Given the description of an element on the screen output the (x, y) to click on. 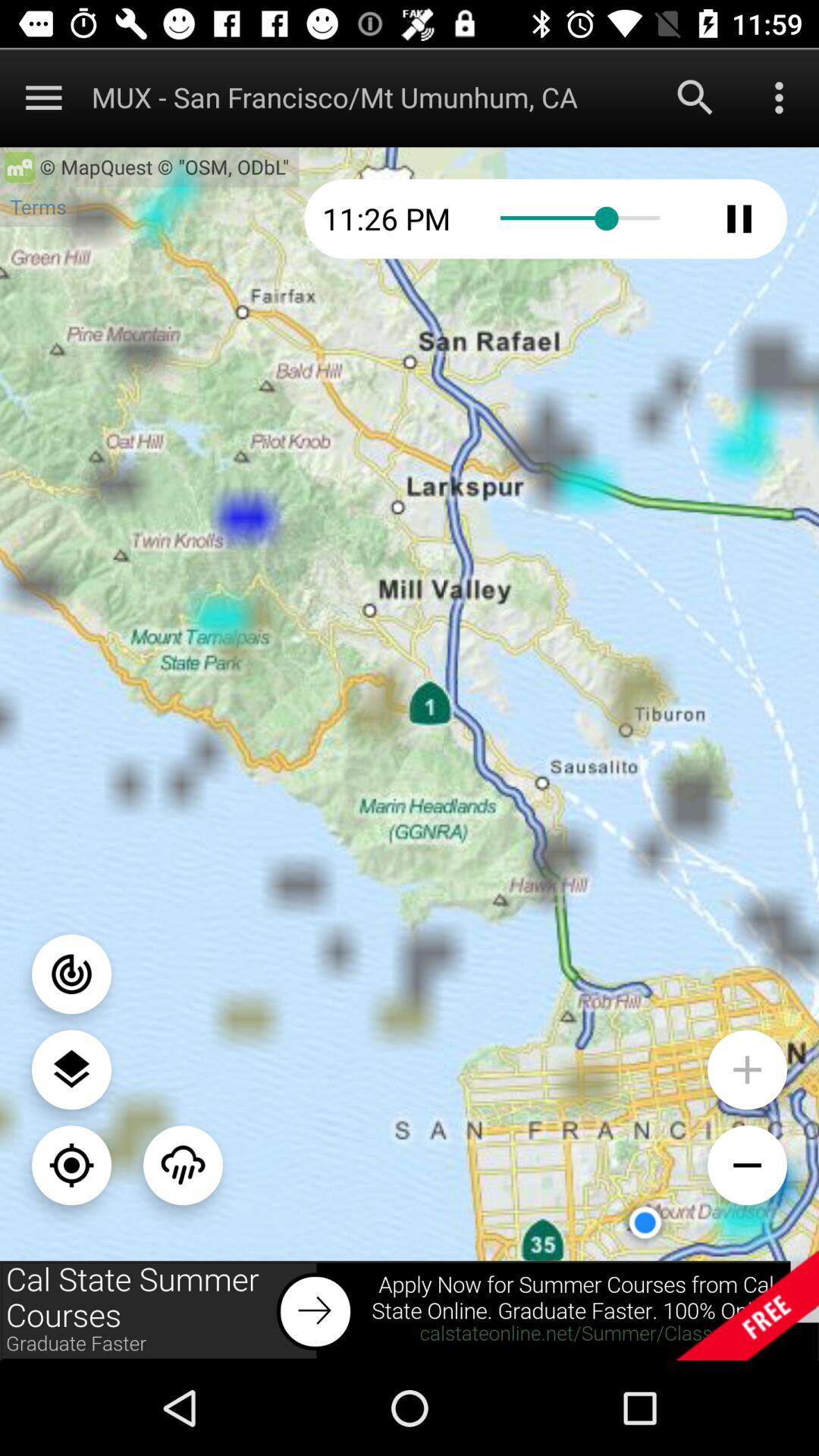
search the location by name (695, 97)
